Given the description of an element on the screen output the (x, y) to click on. 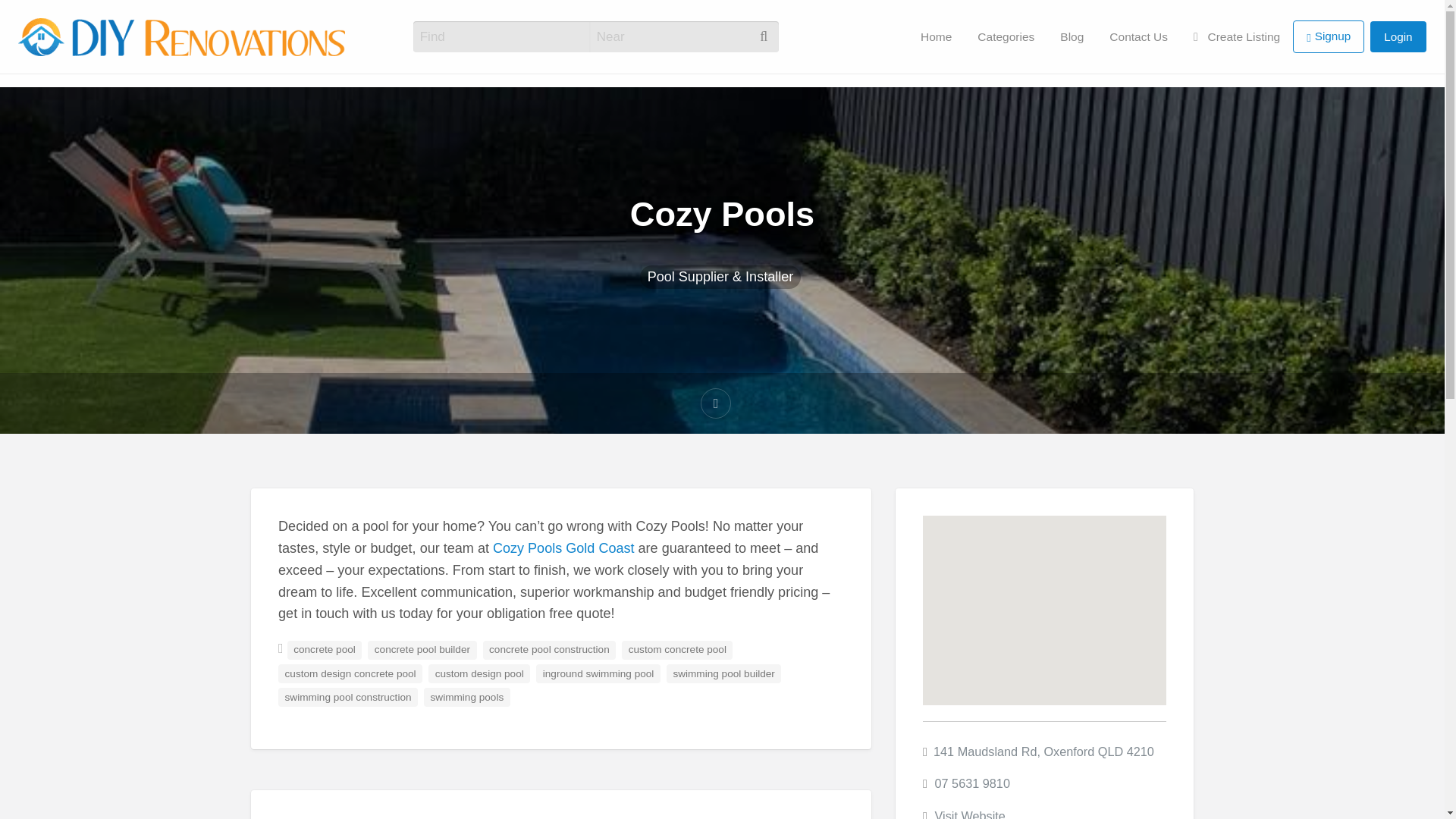
Cozy Pools Gold Coast (563, 548)
Create Listing (1236, 36)
Home (935, 36)
concrete pool (324, 649)
Blog (1071, 36)
concrete pool construction (549, 649)
Categories (1004, 36)
Signup (1328, 36)
Search (30, 16)
swimming pool construction (348, 696)
inground swimming pool (598, 673)
swimming pool builder (723, 673)
Contact Us (1138, 36)
swimming pools (466, 696)
custom design concrete pool (350, 673)
